Given the description of an element on the screen output the (x, y) to click on. 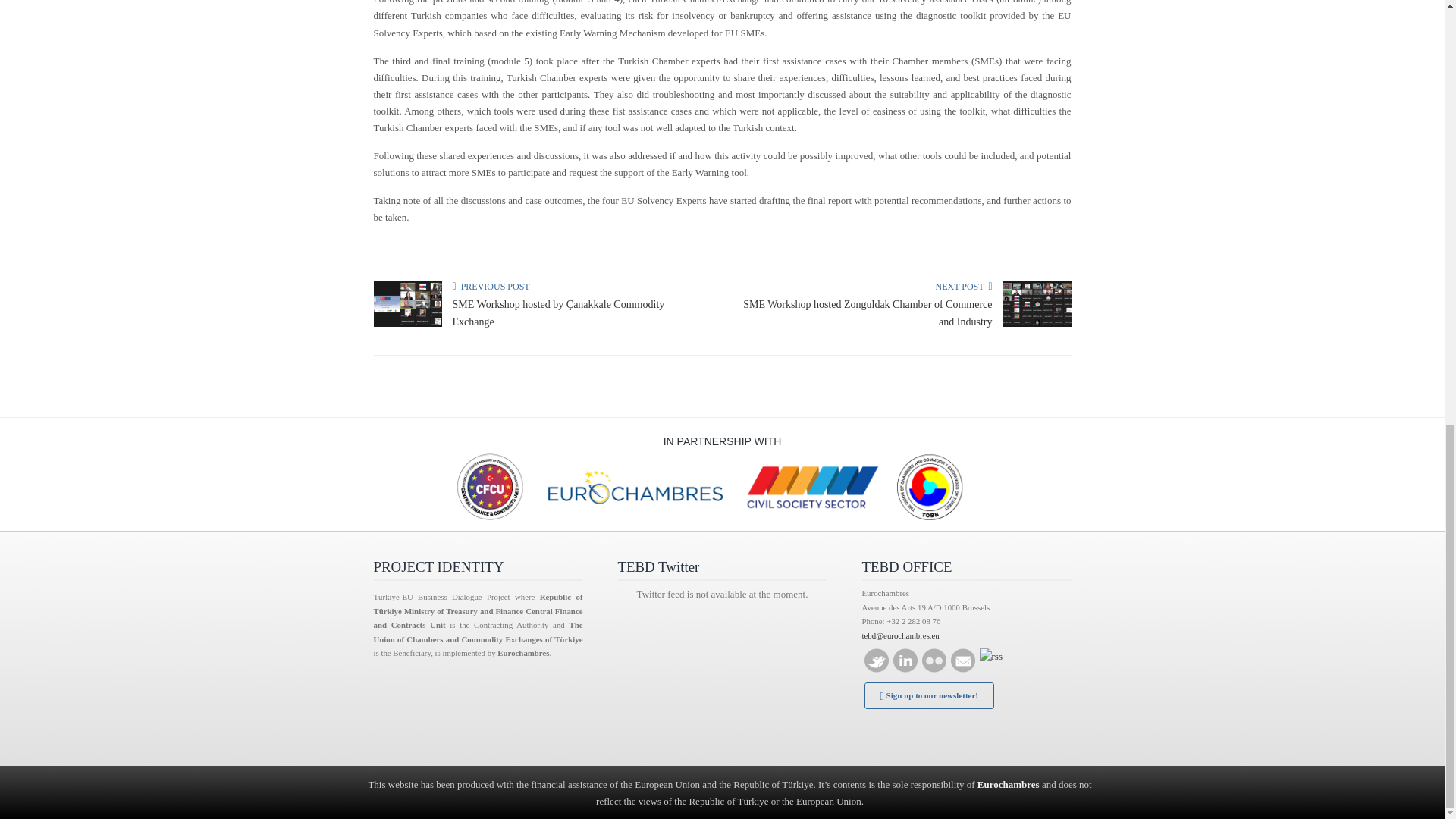
Go to next post (962, 286)
Go to previous post (490, 286)
 PREVIOUS POST (490, 286)
